Given the description of an element on the screen output the (x, y) to click on. 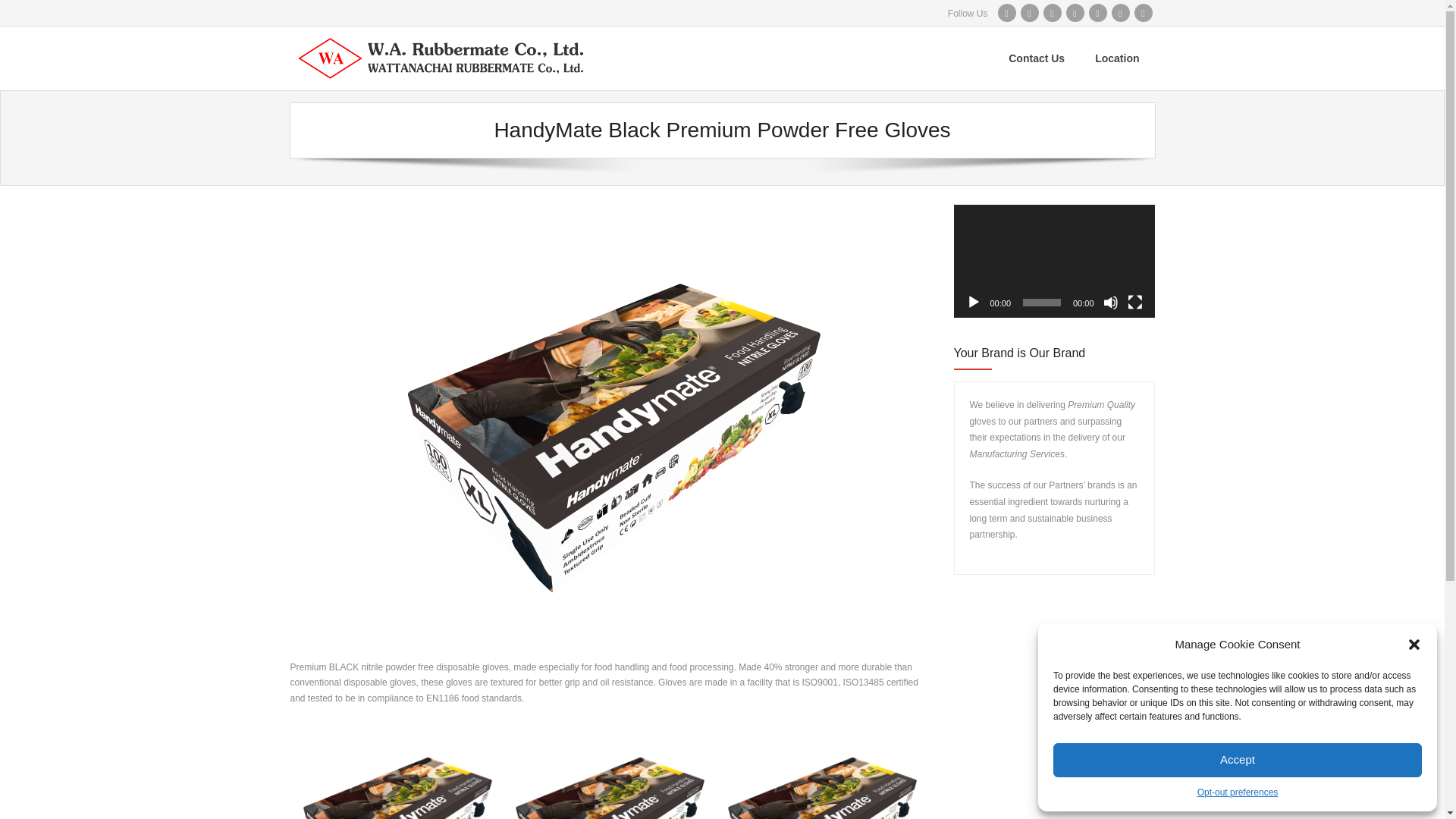
Opt-out preferences (1237, 792)
Mute (1110, 302)
Accept (1237, 759)
Fullscreen (1133, 302)
Contact Us (1036, 58)
Location (1117, 58)
Play (973, 302)
